Given the description of an element on the screen output the (x, y) to click on. 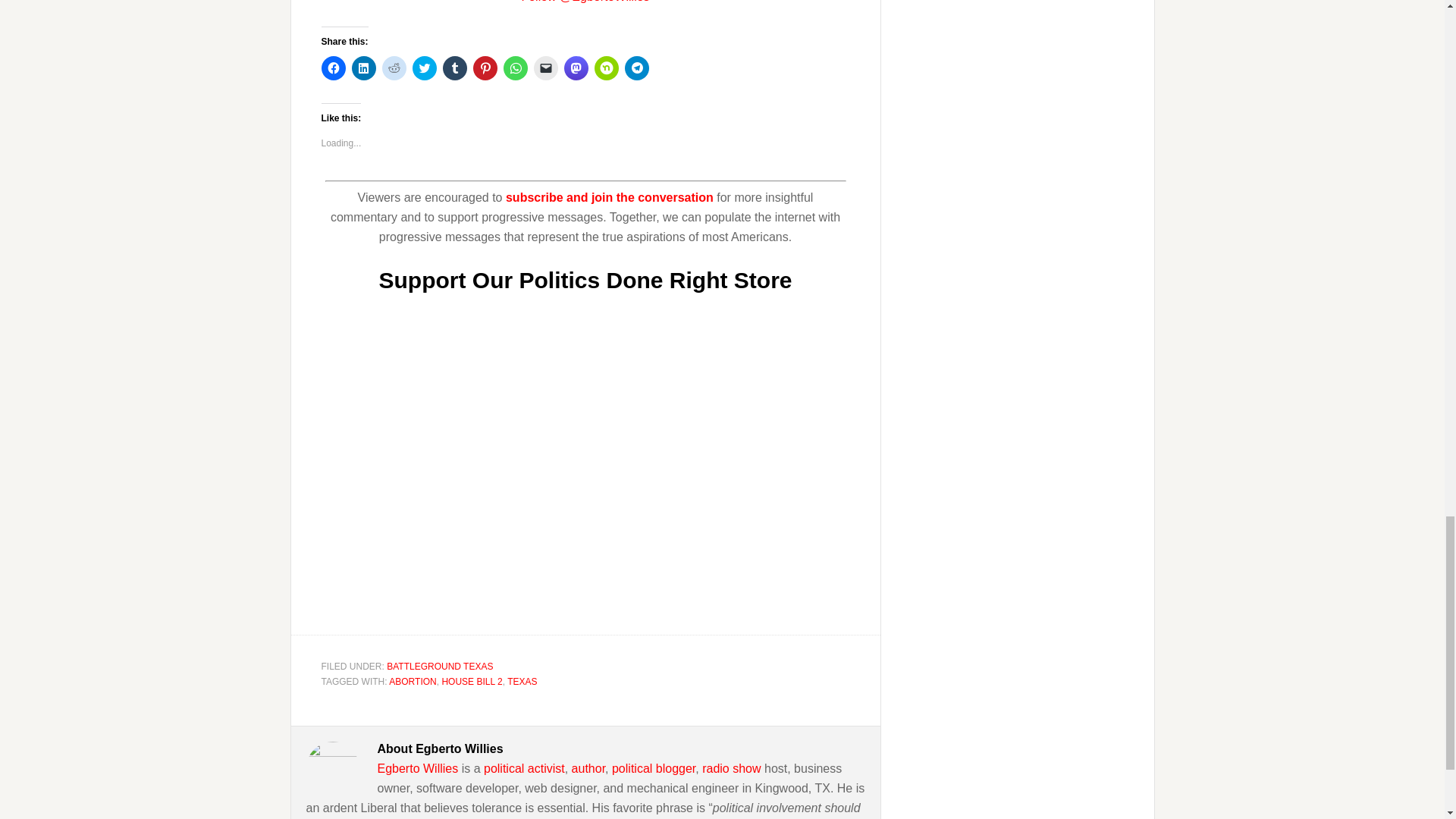
Click to share on Tumblr (454, 68)
Click to share on Mastodon (576, 68)
Click to email a link to a friend (545, 68)
Click to share on Pinterest (485, 68)
Click to share on Reddit (393, 68)
Click to share on WhatsApp (515, 68)
Click to share on Facebook (333, 68)
Click to share on Nextdoor (606, 68)
Click to share on Telegram (636, 68)
